Given the description of an element on the screen output the (x, y) to click on. 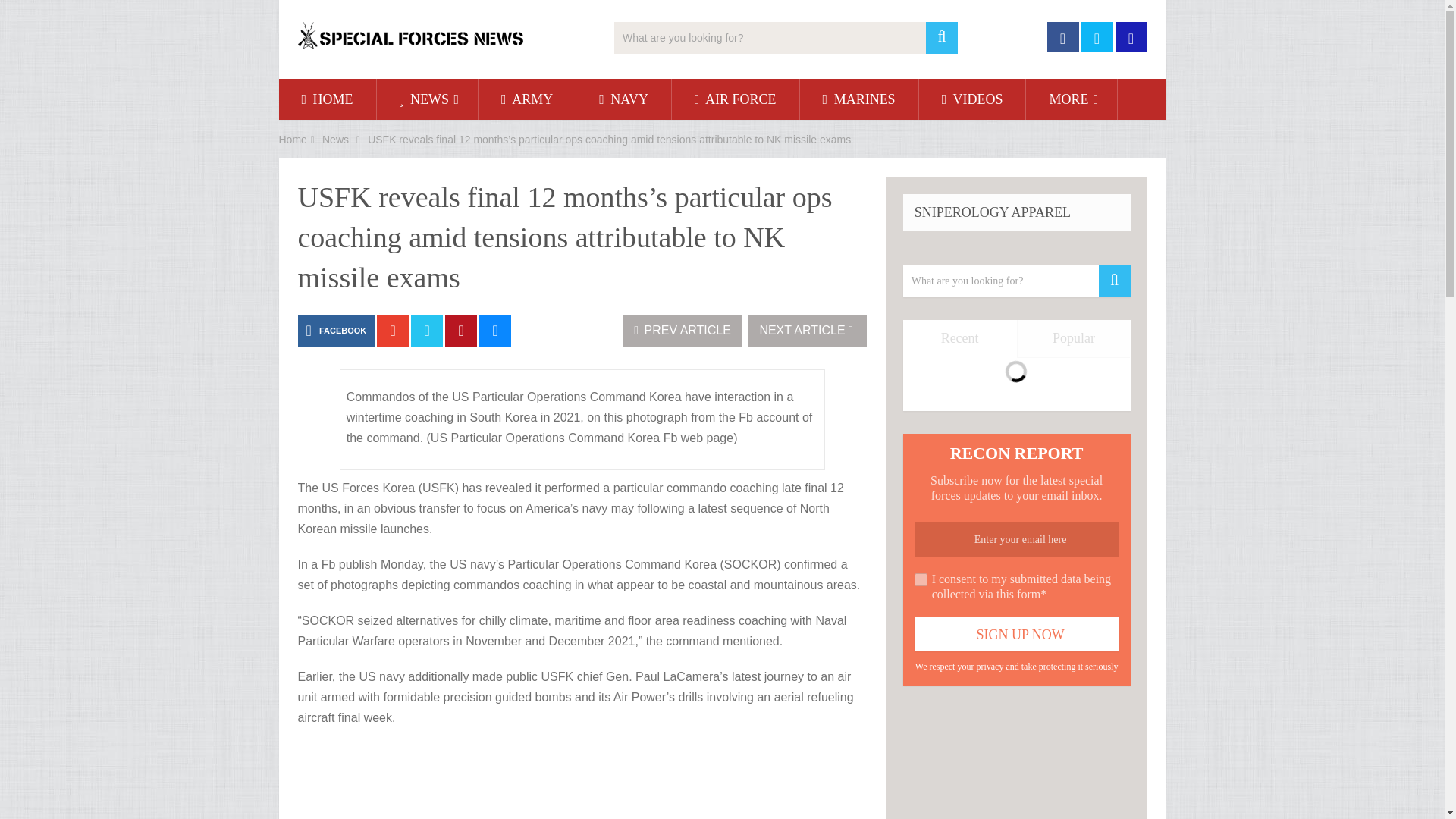
HOME (327, 98)
Sign Up Now (1016, 634)
Home (293, 139)
NAVY (623, 98)
MORE (1071, 98)
ARMY (527, 98)
on (920, 579)
VIDEOS (972, 98)
AIR FORCE (735, 98)
NEWS (428, 98)
MARINES (858, 98)
NEXT ARTICLE (807, 330)
News (335, 139)
FACEBOOK (335, 330)
PREV ARTICLE (682, 330)
